Given the description of an element on the screen output the (x, y) to click on. 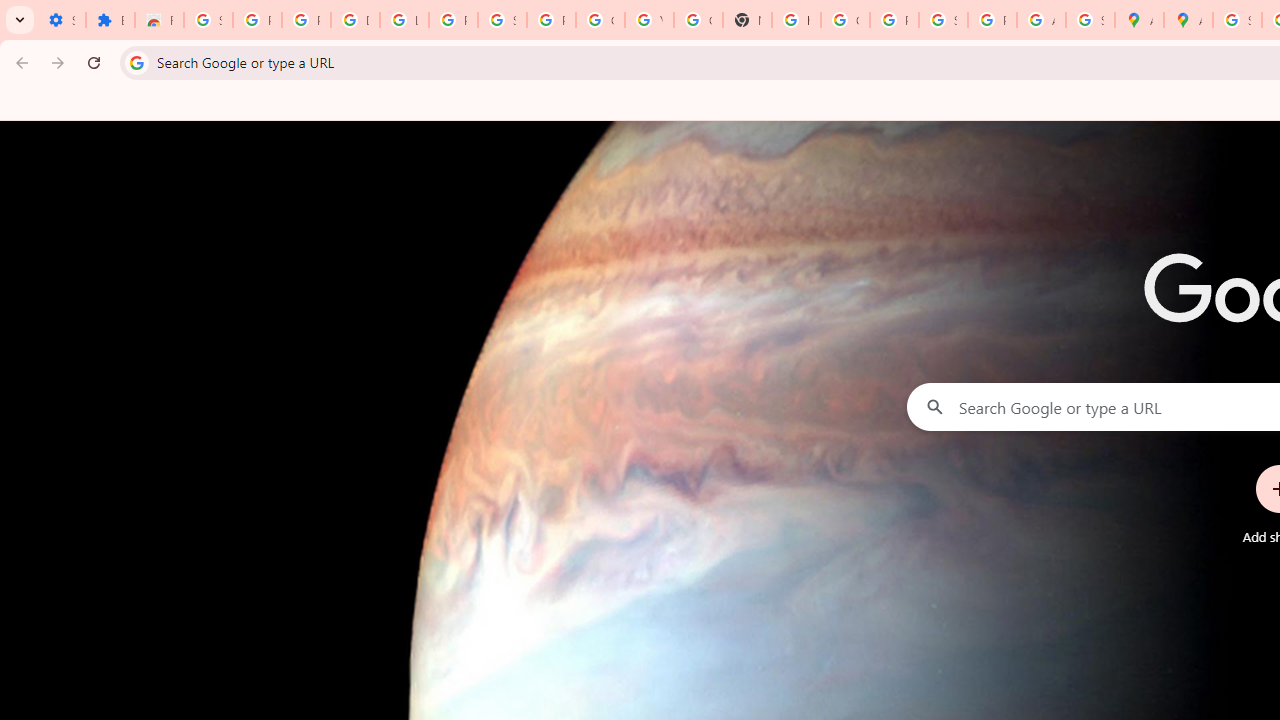
Learn how to find your photos - Google Photos Help (404, 20)
Sign in - Google Accounts (502, 20)
Google Account (600, 20)
Settings - On startup (61, 20)
YouTube (649, 20)
Sign in - Google Accounts (943, 20)
New Tab (747, 20)
https://scholar.google.com/ (795, 20)
Safety in Our Products - Google Safety Center (1090, 20)
